Given the description of an element on the screen output the (x, y) to click on. 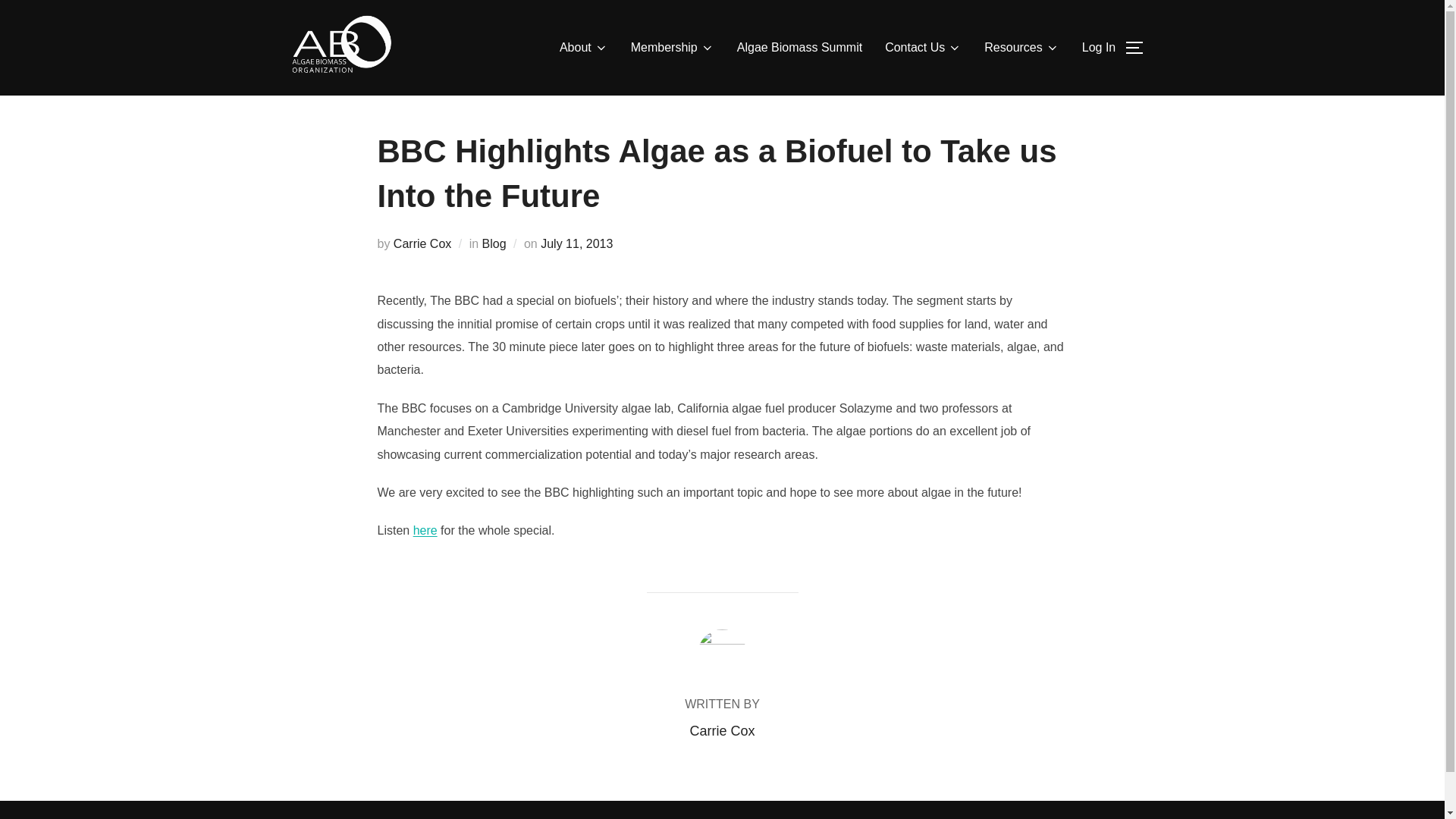
Membership (672, 47)
Carrie Cox (422, 243)
Algae Biomass Summit (798, 47)
Contact Us (922, 47)
About (583, 47)
Log In (1098, 47)
Resources (1021, 47)
Posts by Carrie Cox (721, 730)
